Given the description of an element on the screen output the (x, y) to click on. 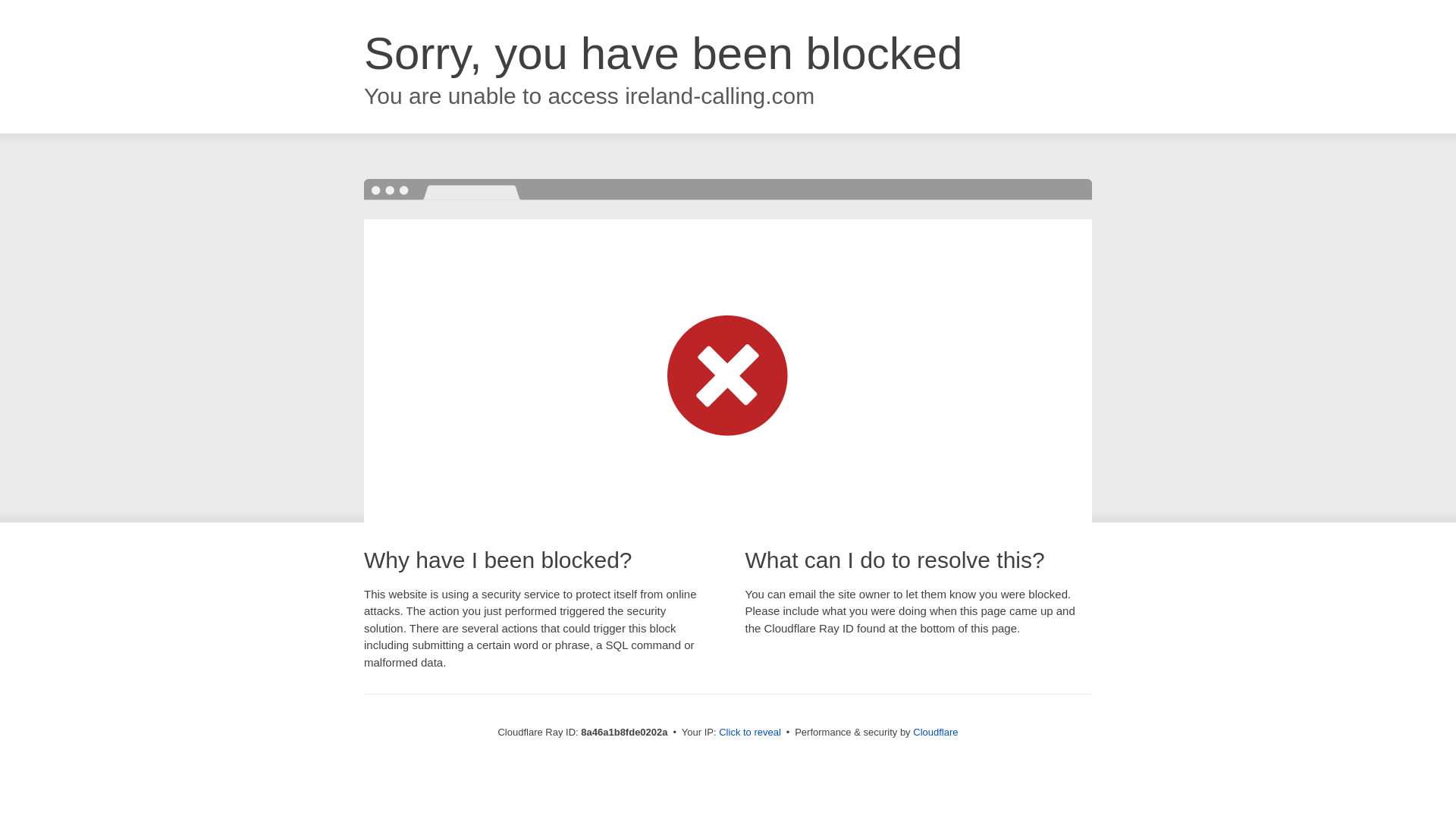
Cloudflare (935, 731)
Click to reveal (749, 732)
